Given the description of an element on the screen output the (x, y) to click on. 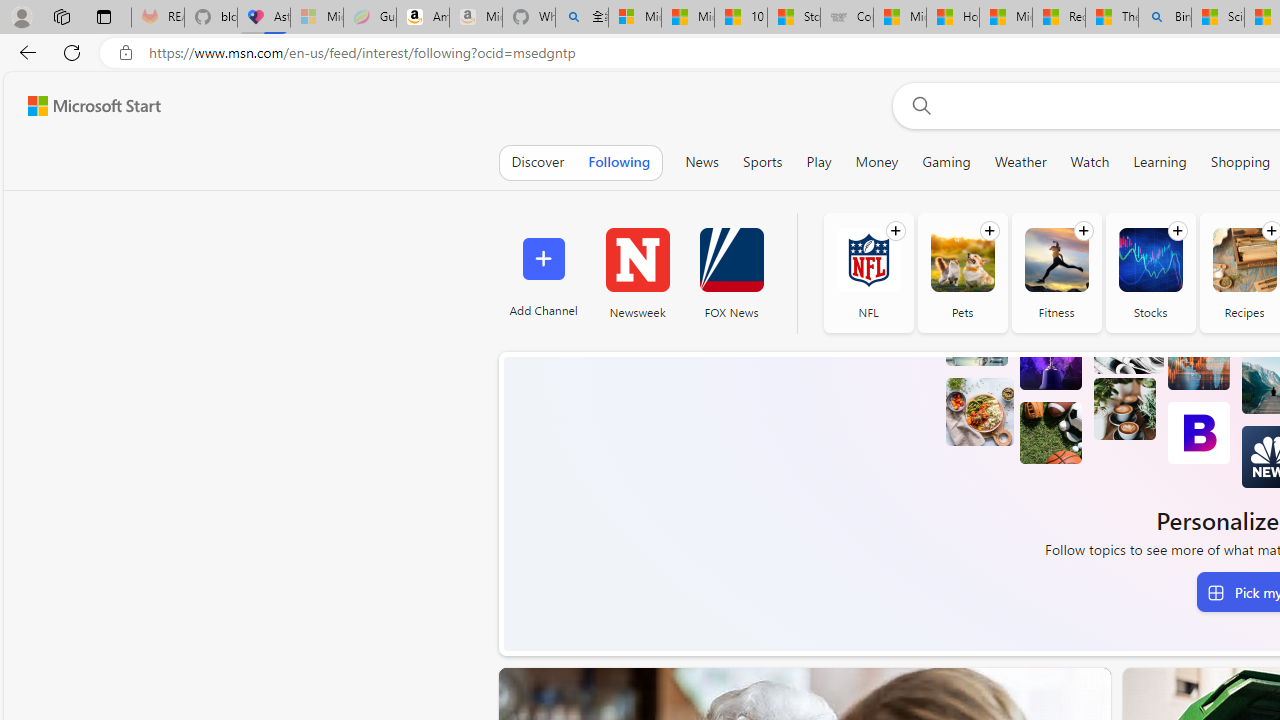
Sports (762, 162)
How I Got Rid of Microsoft Edge's Unnecessary Features (952, 17)
Pets (962, 260)
Learning (1160, 162)
NFL (868, 272)
Stocks (1149, 272)
